Given the description of an element on the screen output the (x, y) to click on. 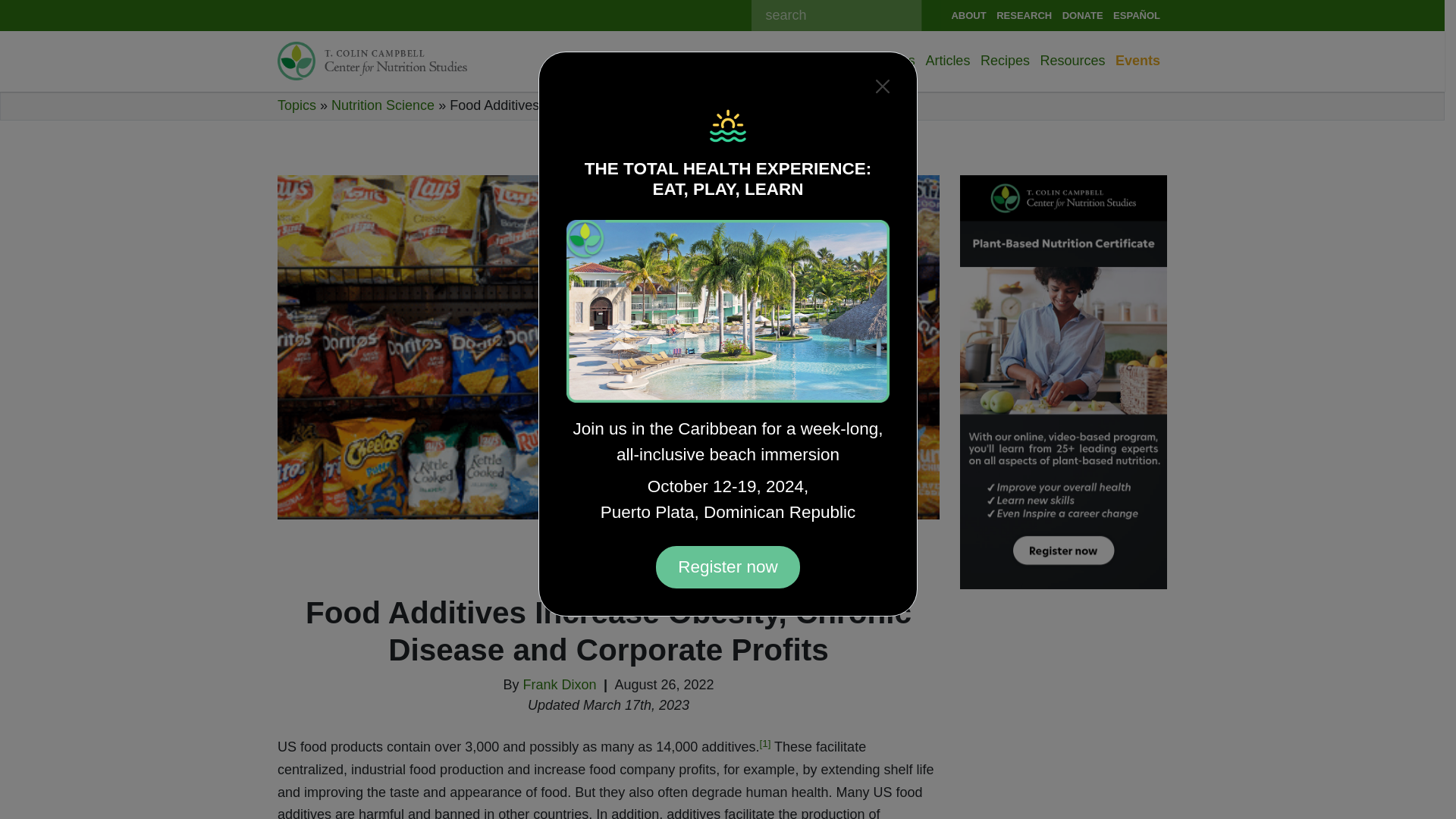
RESEARCH (1025, 15)
ABOUT (969, 15)
Register now (727, 567)
Courses (801, 60)
T. Colin Campbell Center for Nutrition Studies (372, 60)
Articles (948, 60)
DONATE (1083, 15)
Communities (876, 60)
Certificates (732, 60)
